Given the description of an element on the screen output the (x, y) to click on. 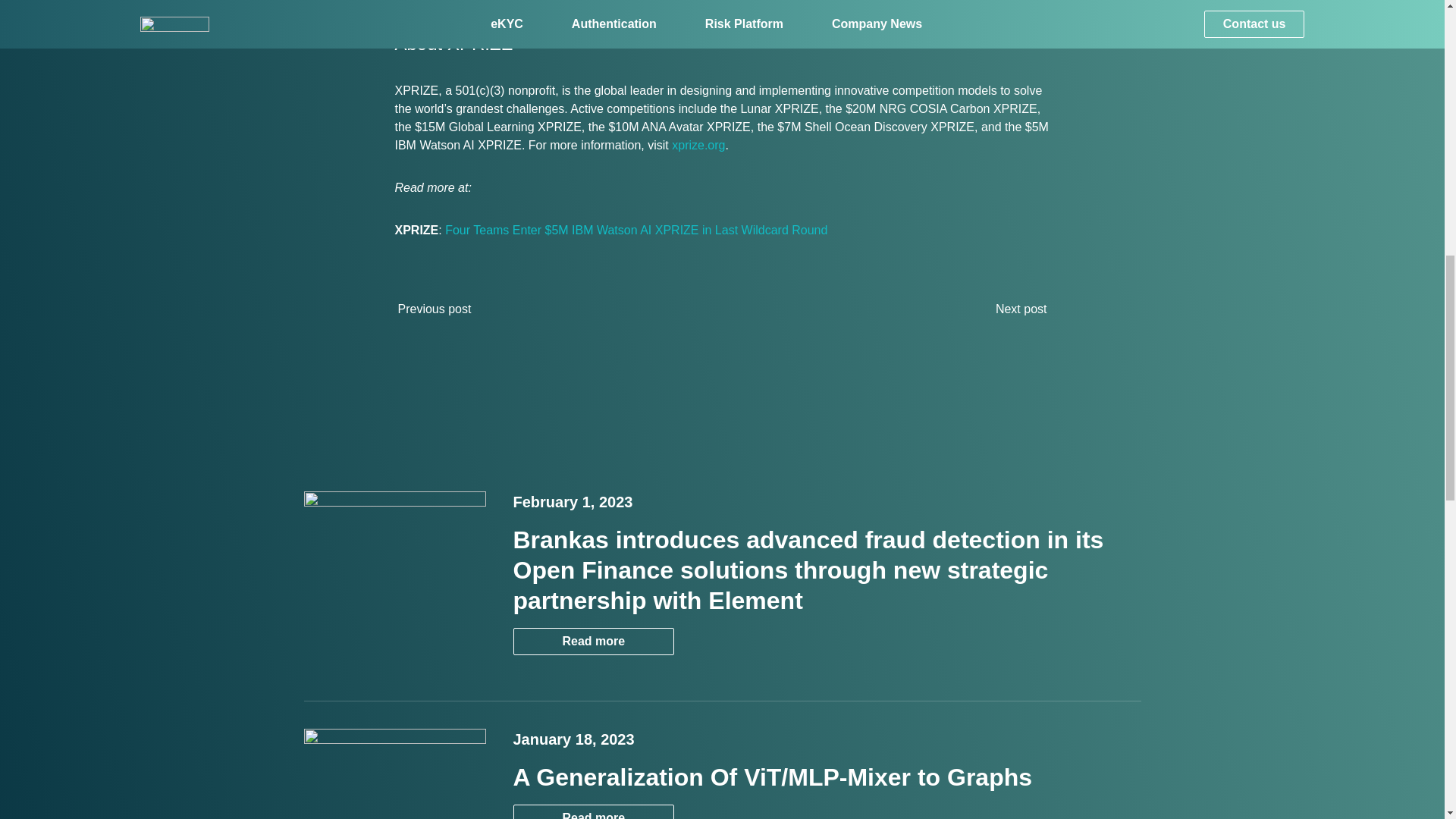
Read more (593, 815)
www.elementresearch.com (912, 1)
Previous post (429, 309)
Read more (593, 641)
Read more (593, 811)
Read more (593, 640)
xprize.org (698, 144)
Next post (1026, 309)
